Given the description of an element on the screen output the (x, y) to click on. 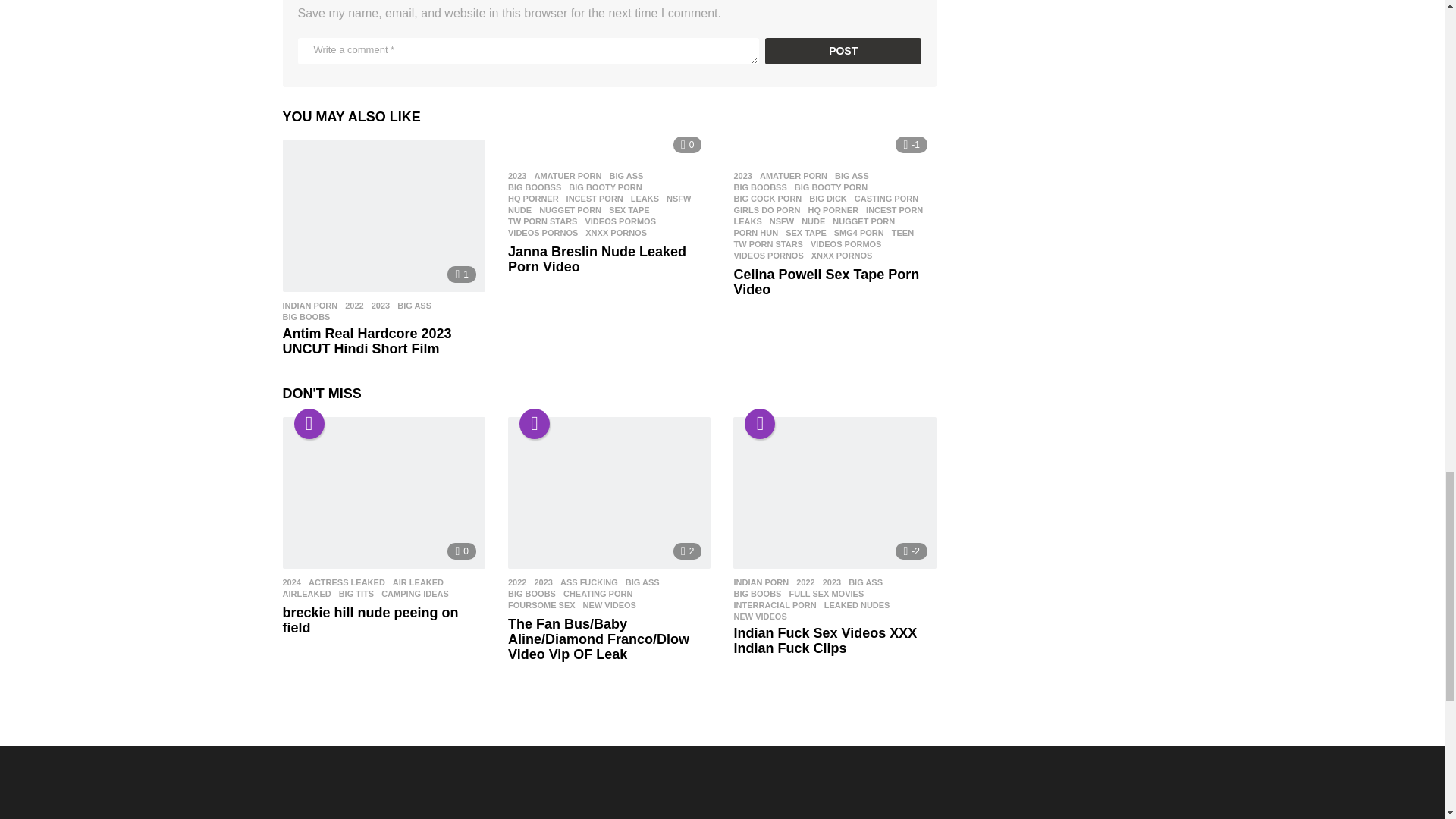
Antim Real Hardcore 2023 UNCUT Hindi Short Film (383, 215)
Trending (759, 423)
Trending (534, 423)
Post (843, 50)
breckie hill nude peeing on field (383, 492)
Popular (309, 423)
